Given the description of an element on the screen output the (x, y) to click on. 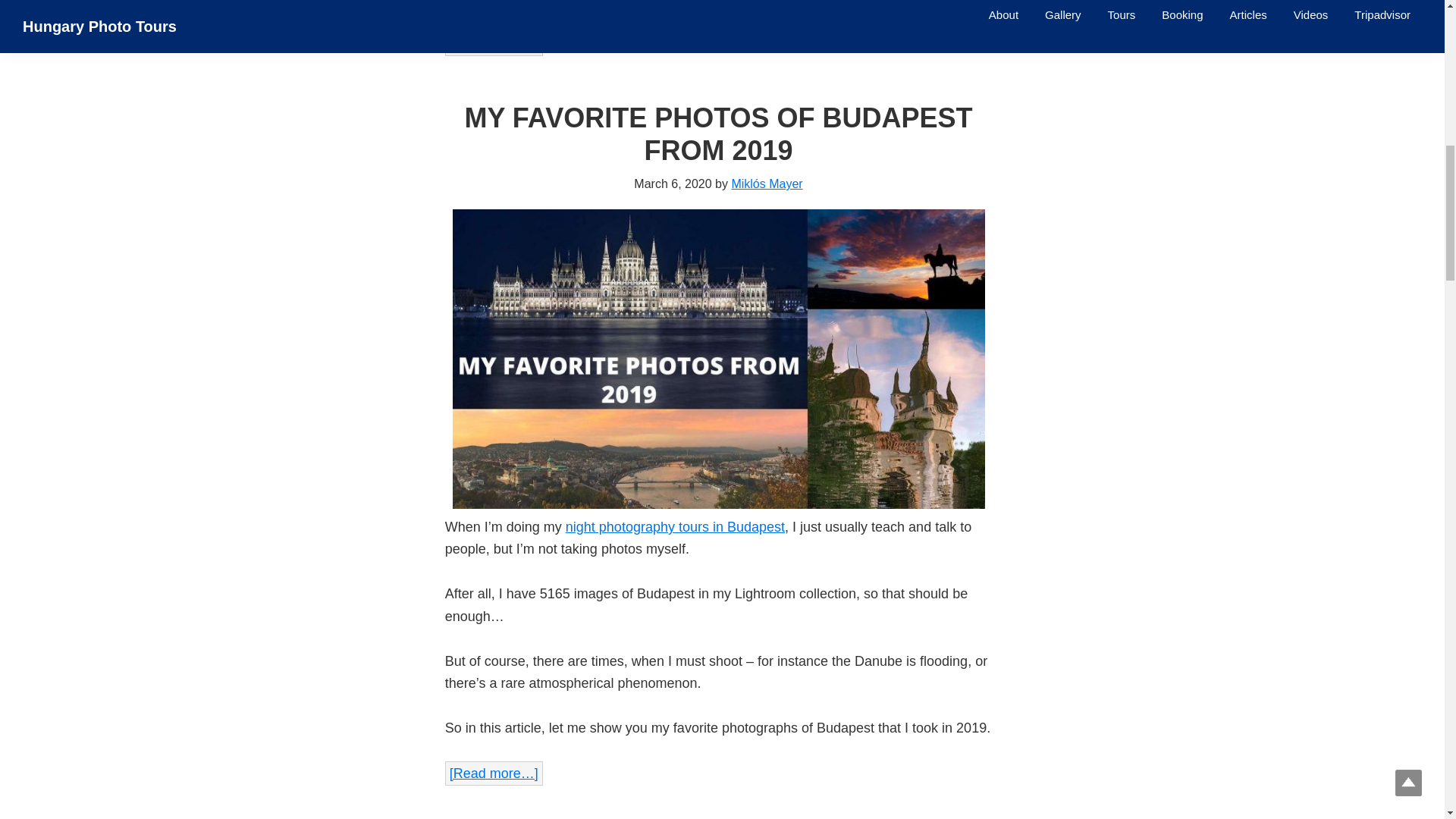
MY FAVORITE PHOTOS OF BUDAPEST FROM 2019 (718, 134)
night photography tours in Budapest (675, 526)
